Given the description of an element on the screen output the (x, y) to click on. 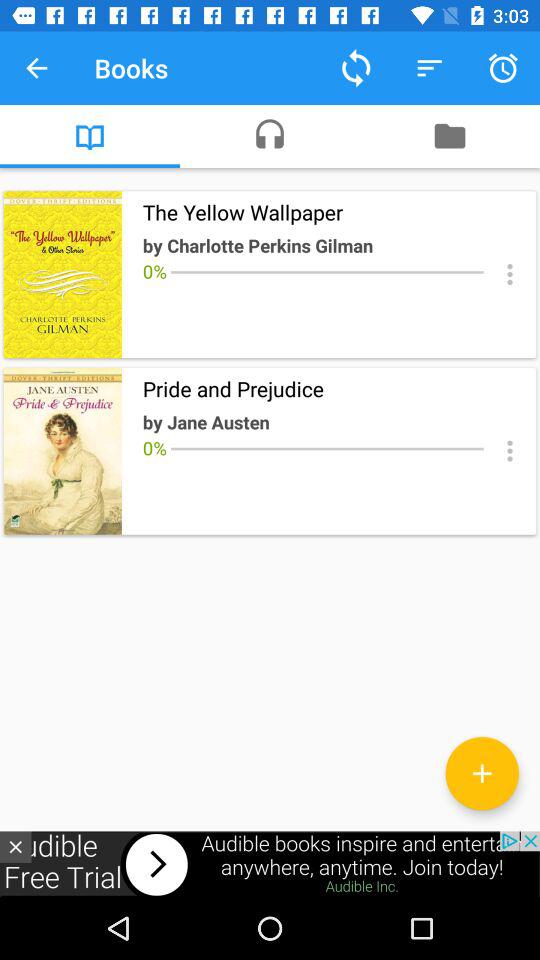
add a book (482, 773)
